Given the description of an element on the screen output the (x, y) to click on. 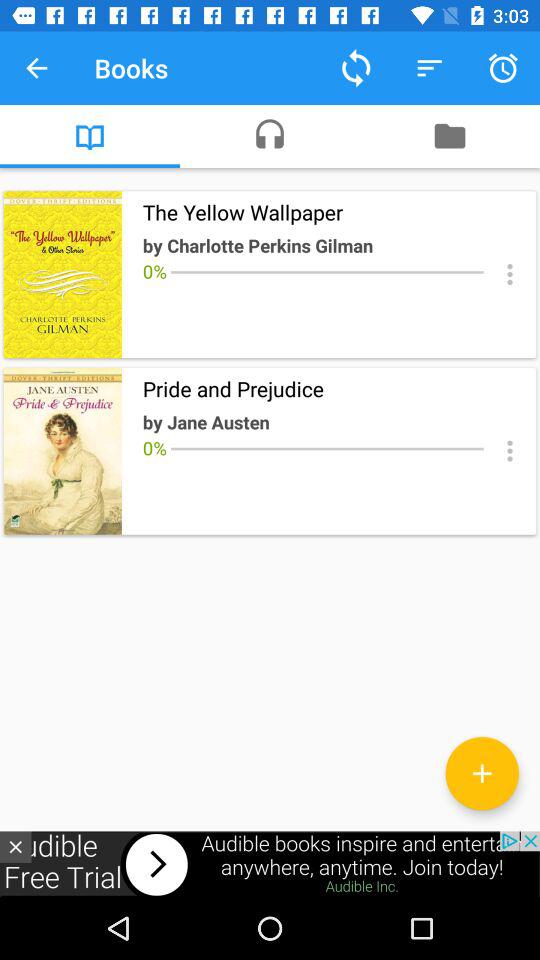
add a book (482, 773)
